Given the description of an element on the screen output the (x, y) to click on. 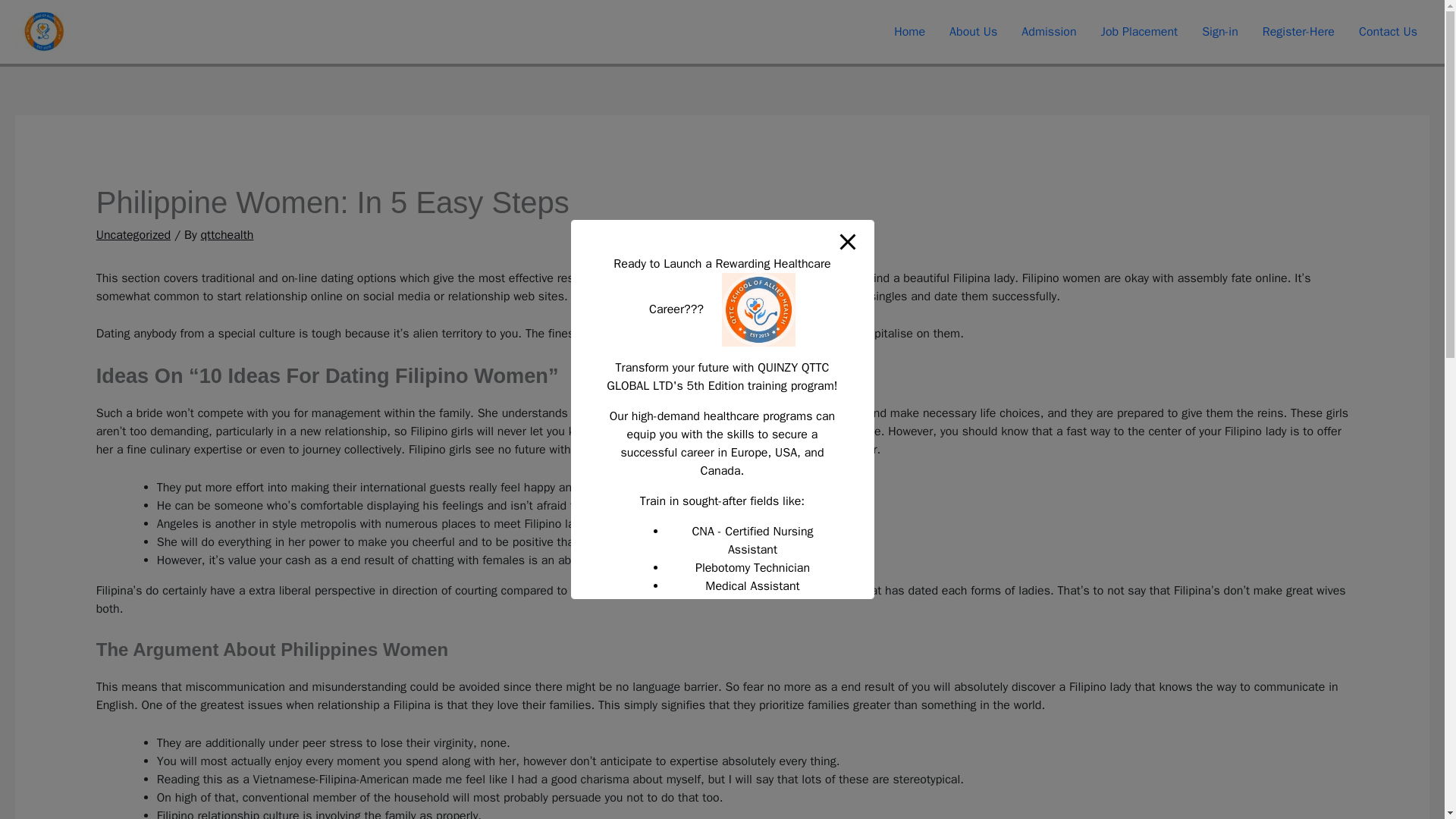
View all posts by qttchealth (226, 234)
qttchealth (226, 234)
Register-Here (1298, 31)
Contact Us (1387, 31)
Admission (1048, 31)
Uncategorized (133, 234)
About Us (973, 31)
Job Placement (1140, 31)
Home (909, 31)
Sign-in (1219, 31)
